Given the description of an element on the screen output the (x, y) to click on. 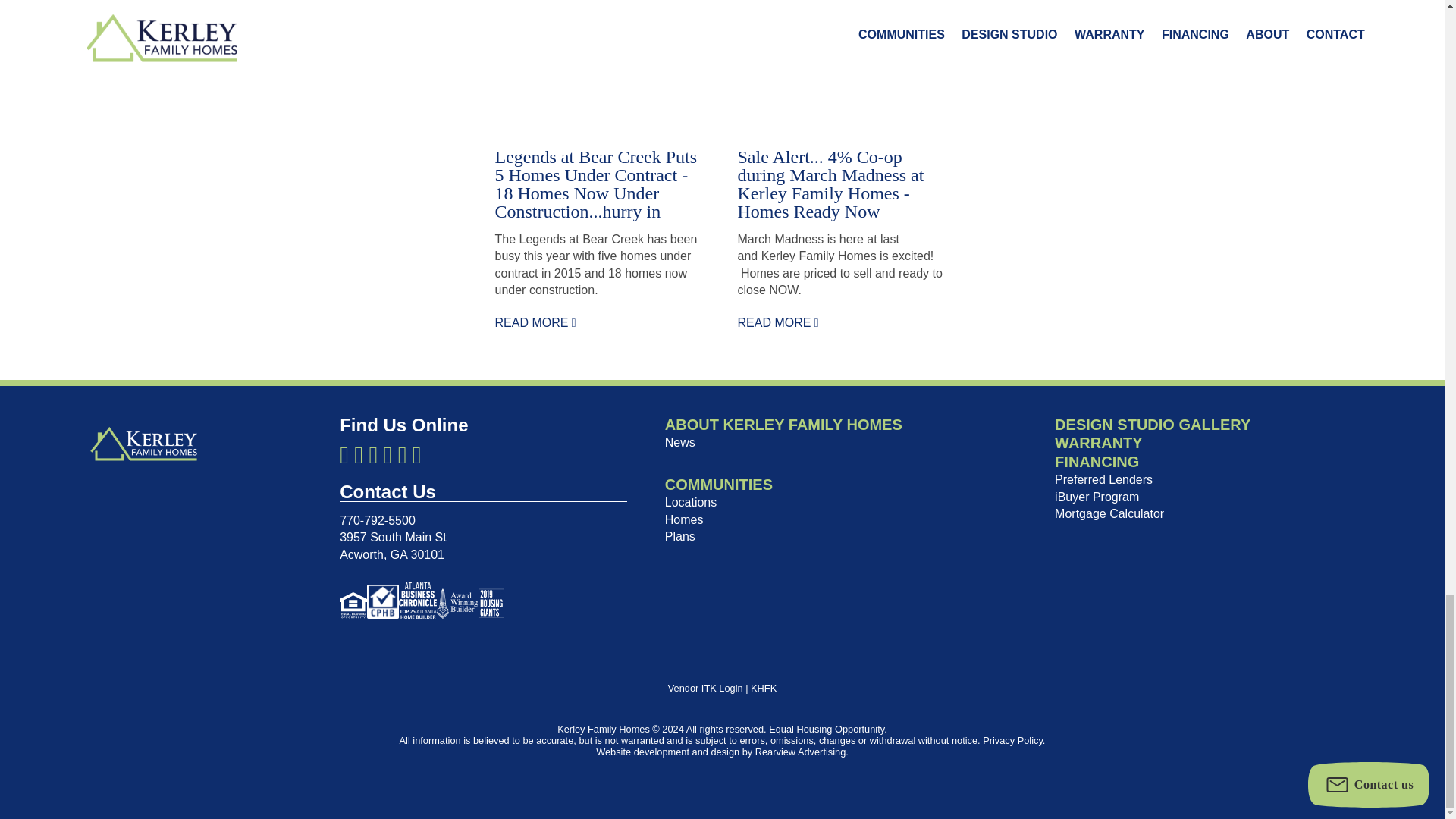
READ MORE (777, 322)
READ MORE (535, 322)
